Given the description of an element on the screen output the (x, y) to click on. 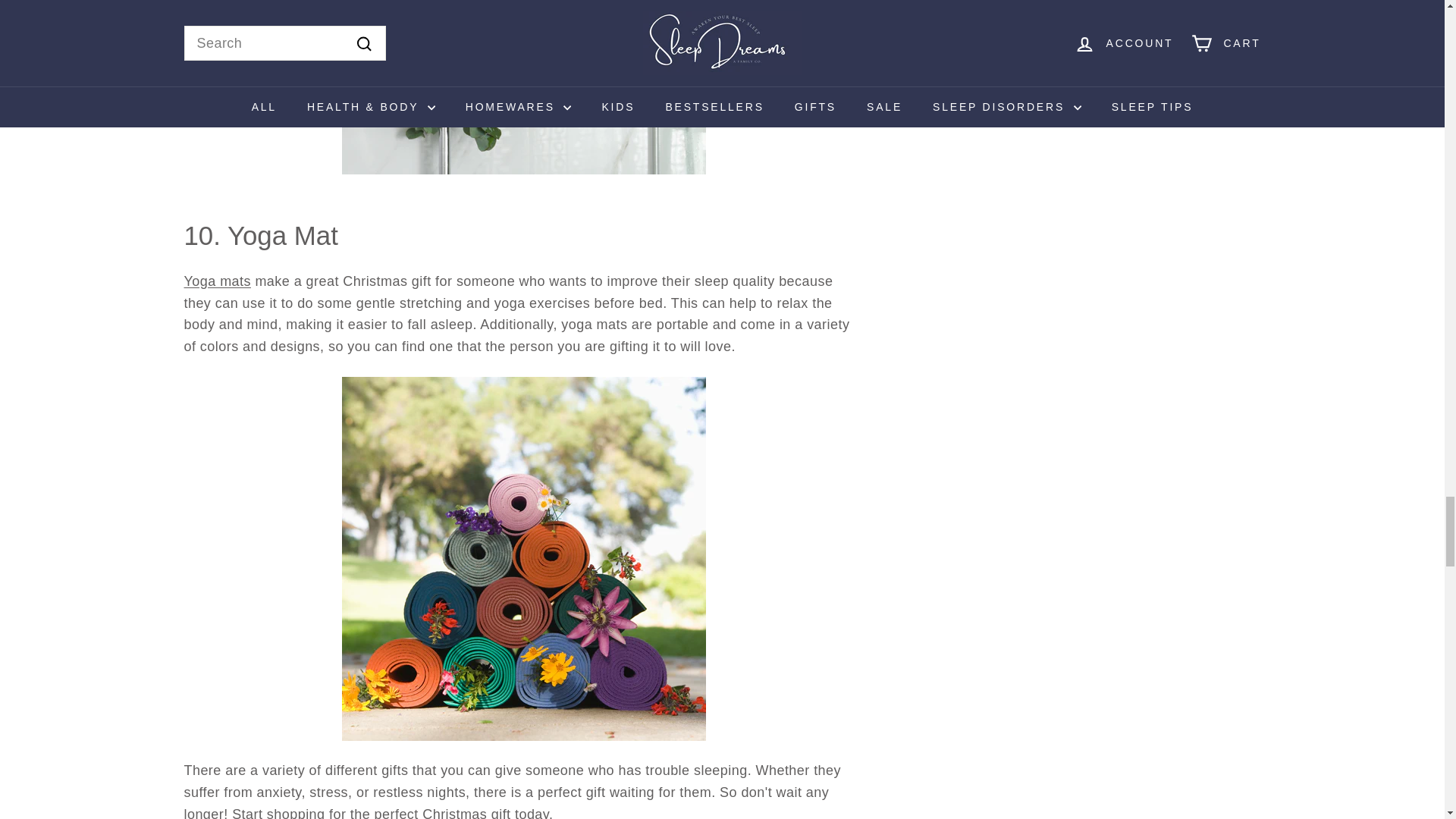
yoga mats (216, 281)
